Given the description of an element on the screen output the (x, y) to click on. 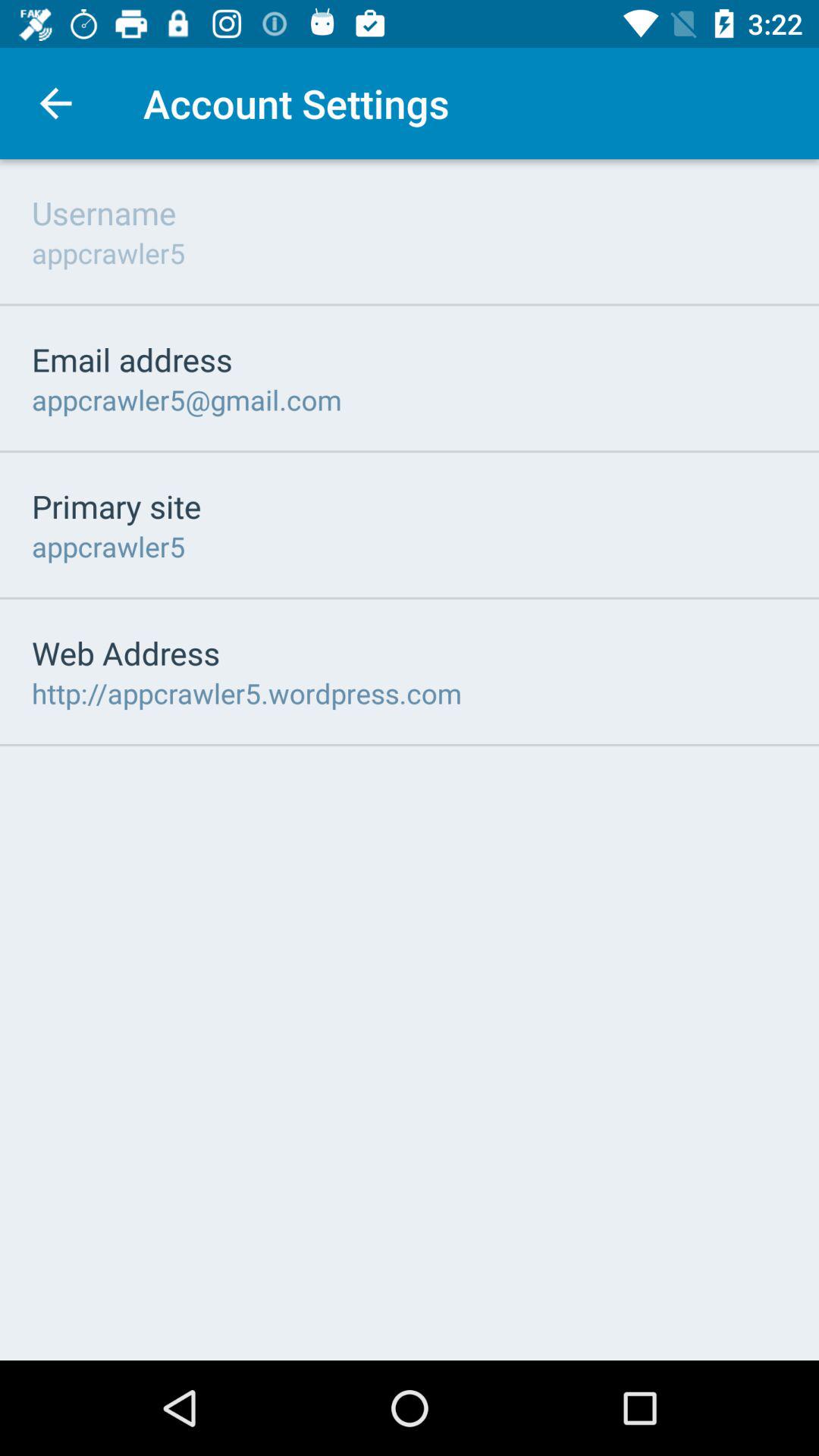
tap the web address item (125, 652)
